Given the description of an element on the screen output the (x, y) to click on. 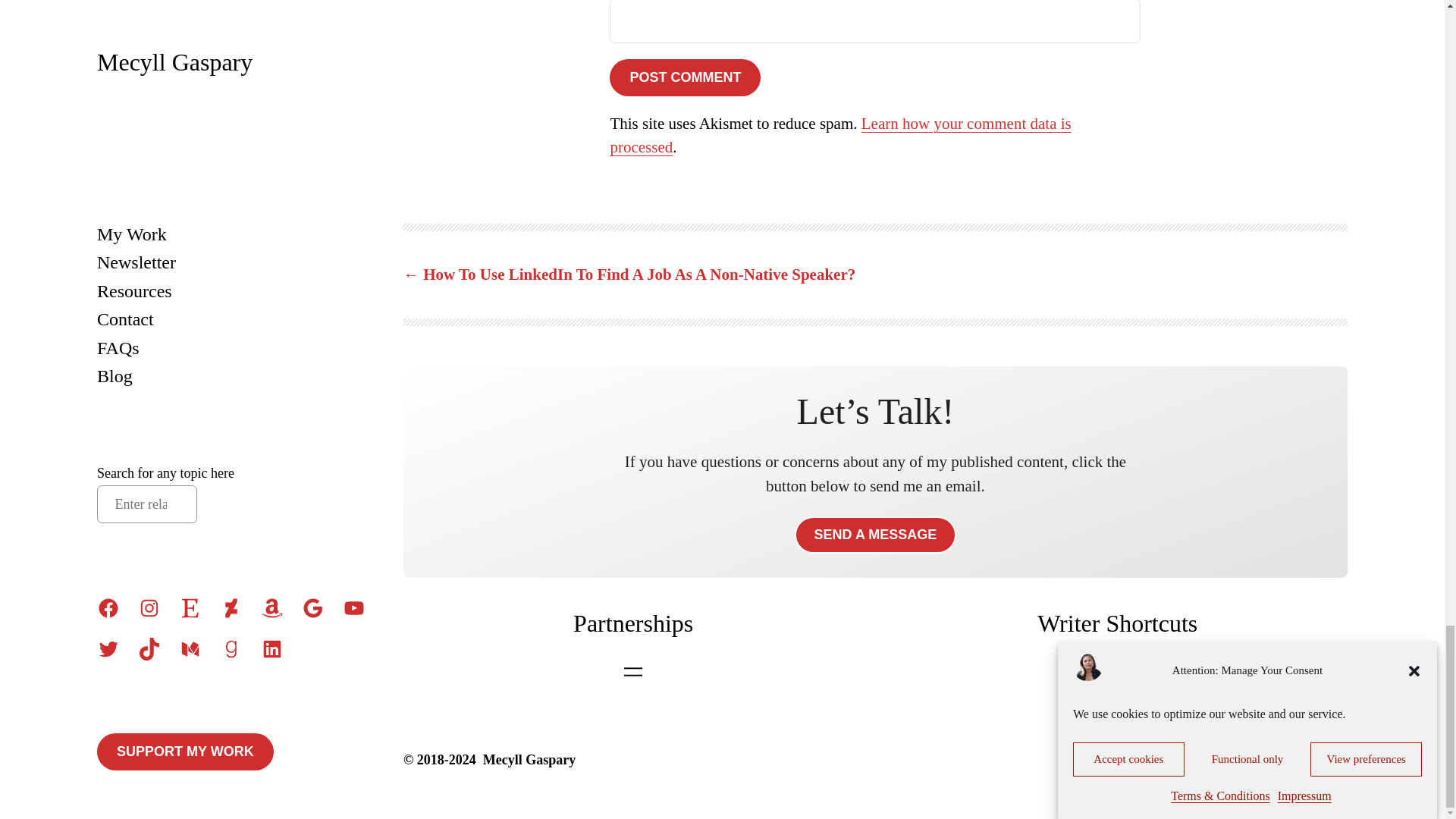
Post Comment (685, 77)
